Given the description of an element on the screen output the (x, y) to click on. 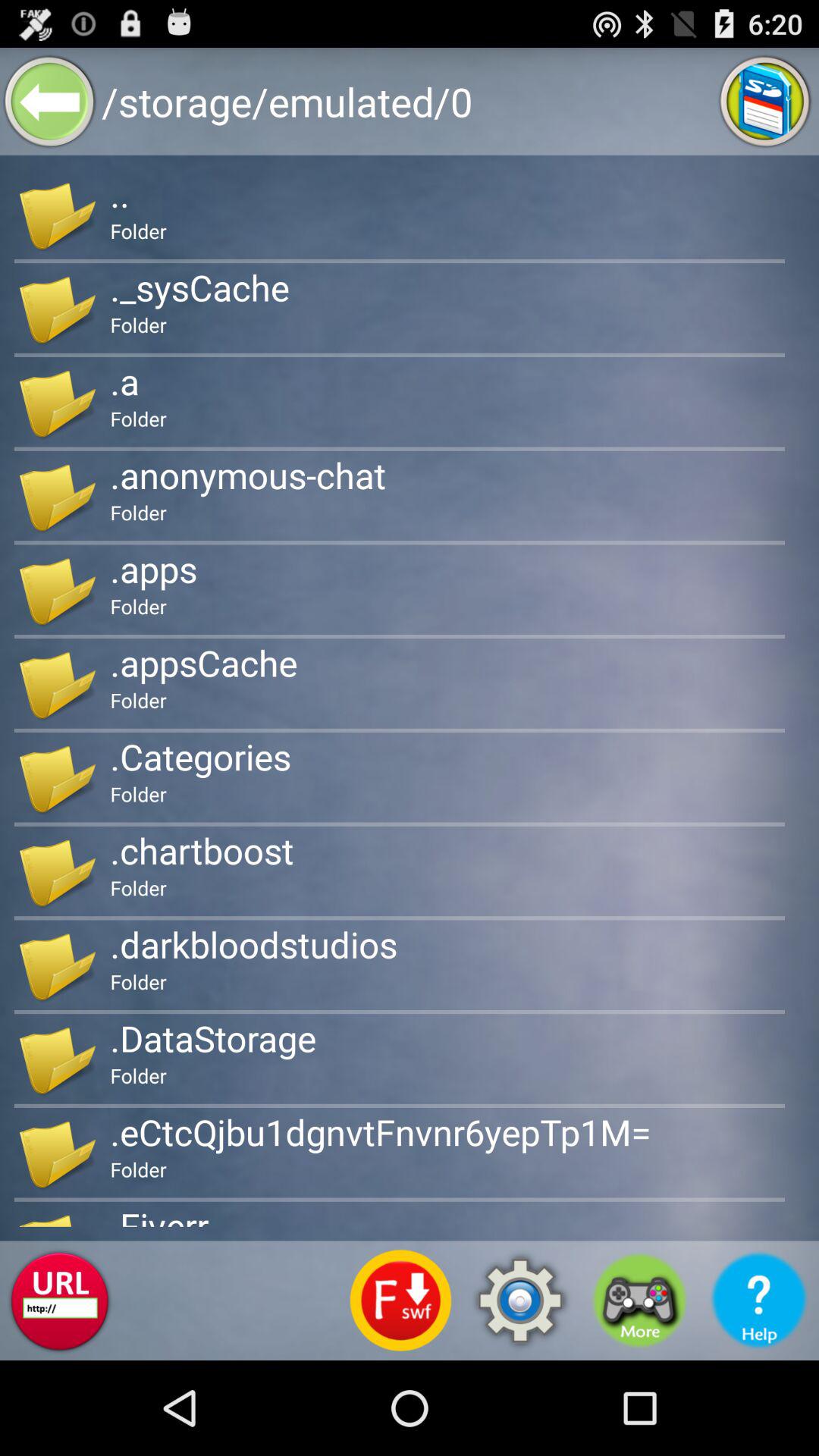
access memory (765, 101)
